Given the description of an element on the screen output the (x, y) to click on. 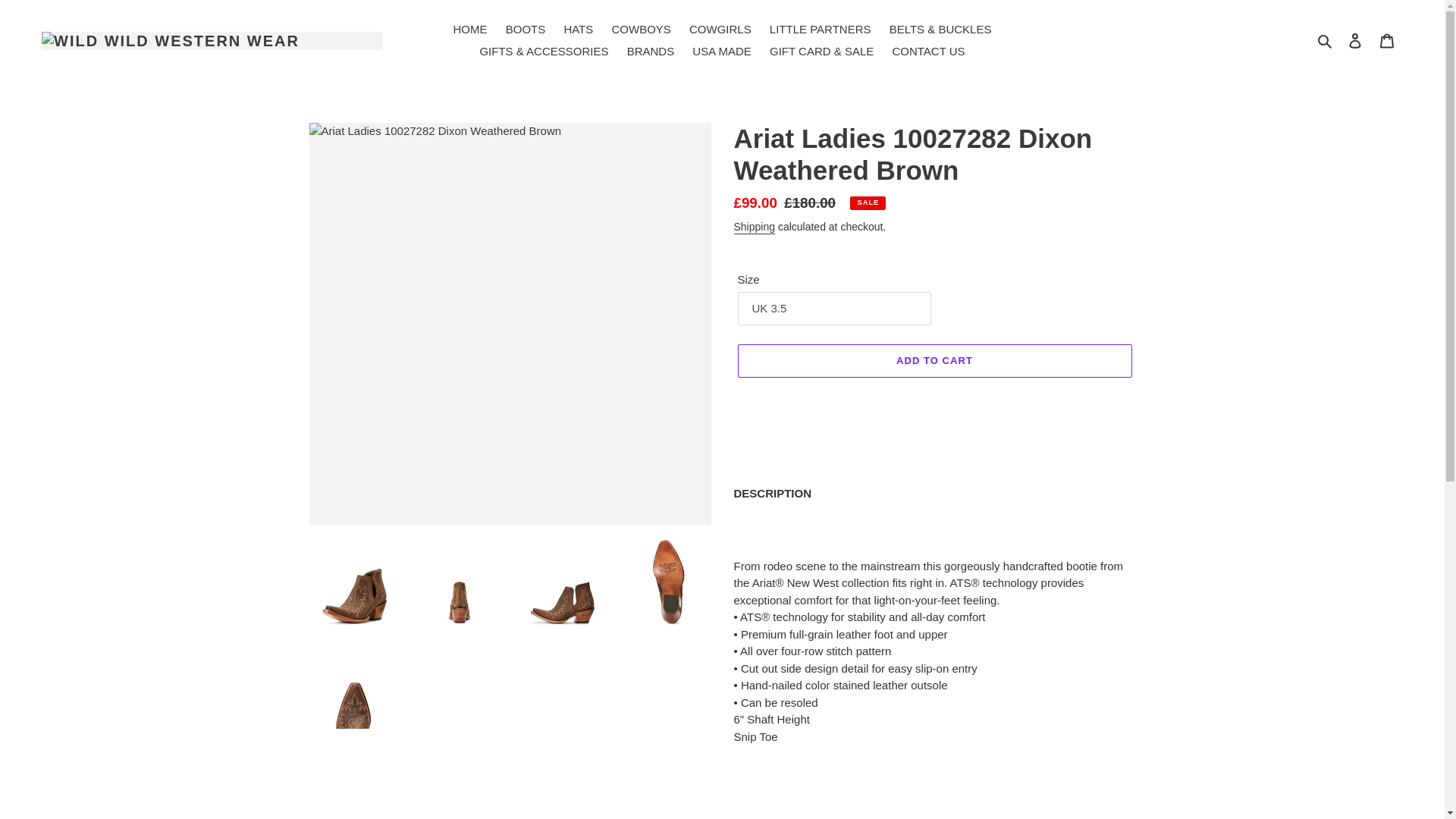
Search (1326, 40)
Log in (1355, 40)
HOME (470, 29)
LITTLE PARTNERS (820, 29)
COWBOYS (641, 29)
BRANDS (651, 51)
CONTACT US (927, 51)
COWGIRLS (719, 29)
USA MADE (721, 51)
BOOTS (525, 29)
Cart (1387, 40)
HATS (577, 29)
